Given the description of an element on the screen output the (x, y) to click on. 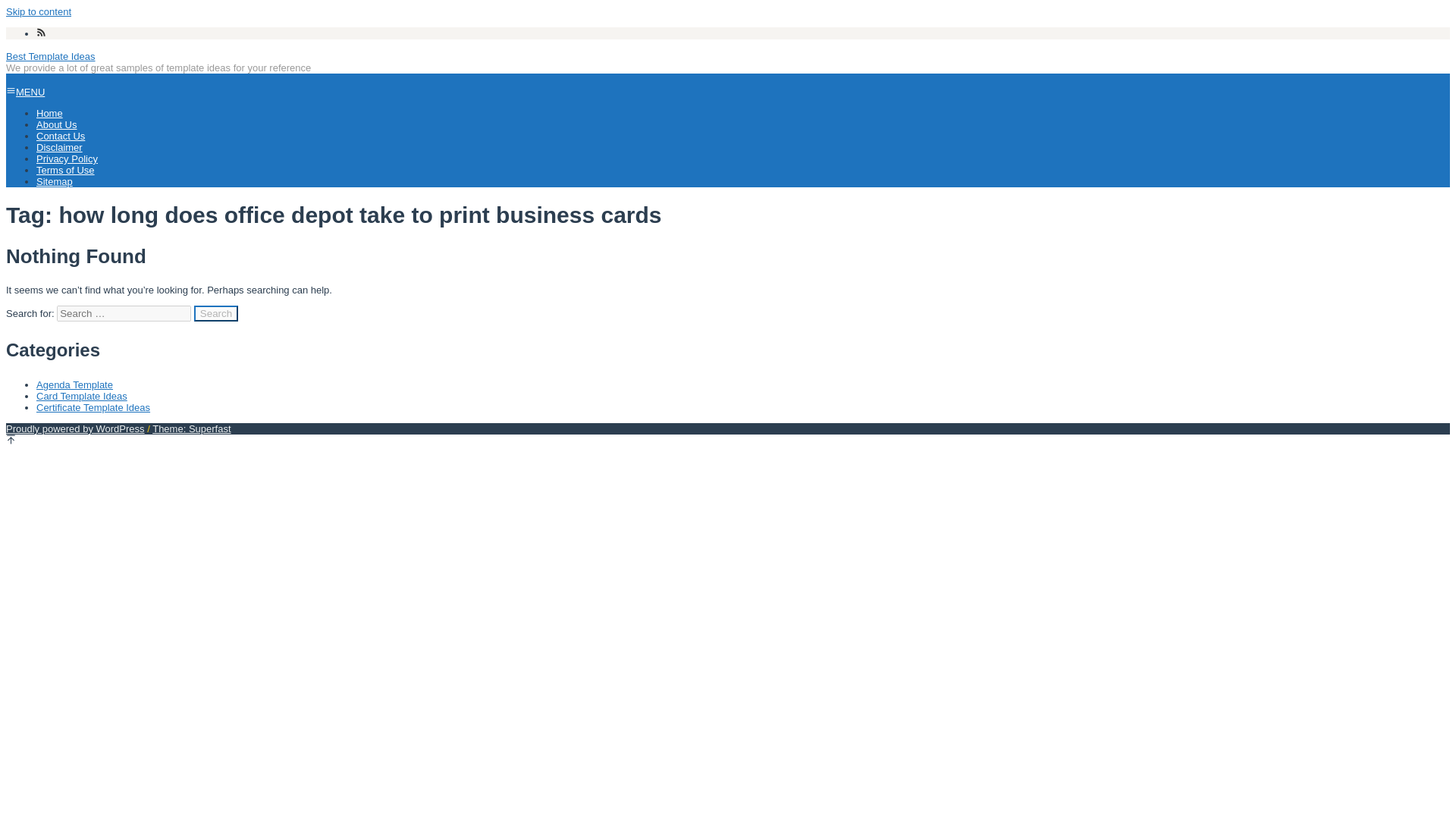
Proudly powered by WordPress (74, 428)
Search (215, 313)
Agenda Template (74, 384)
Contact Us (60, 135)
Best Template Ideas (50, 56)
Terms of Use (65, 170)
Card Template Ideas (82, 396)
Certificate Template Ideas (92, 407)
Theme: Superfast (191, 428)
Theme: Superfast (191, 428)
Search (215, 313)
About Us (56, 124)
Sitemap (54, 181)
Search (215, 313)
Best Template Ideas (50, 56)
